Given the description of an element on the screen output the (x, y) to click on. 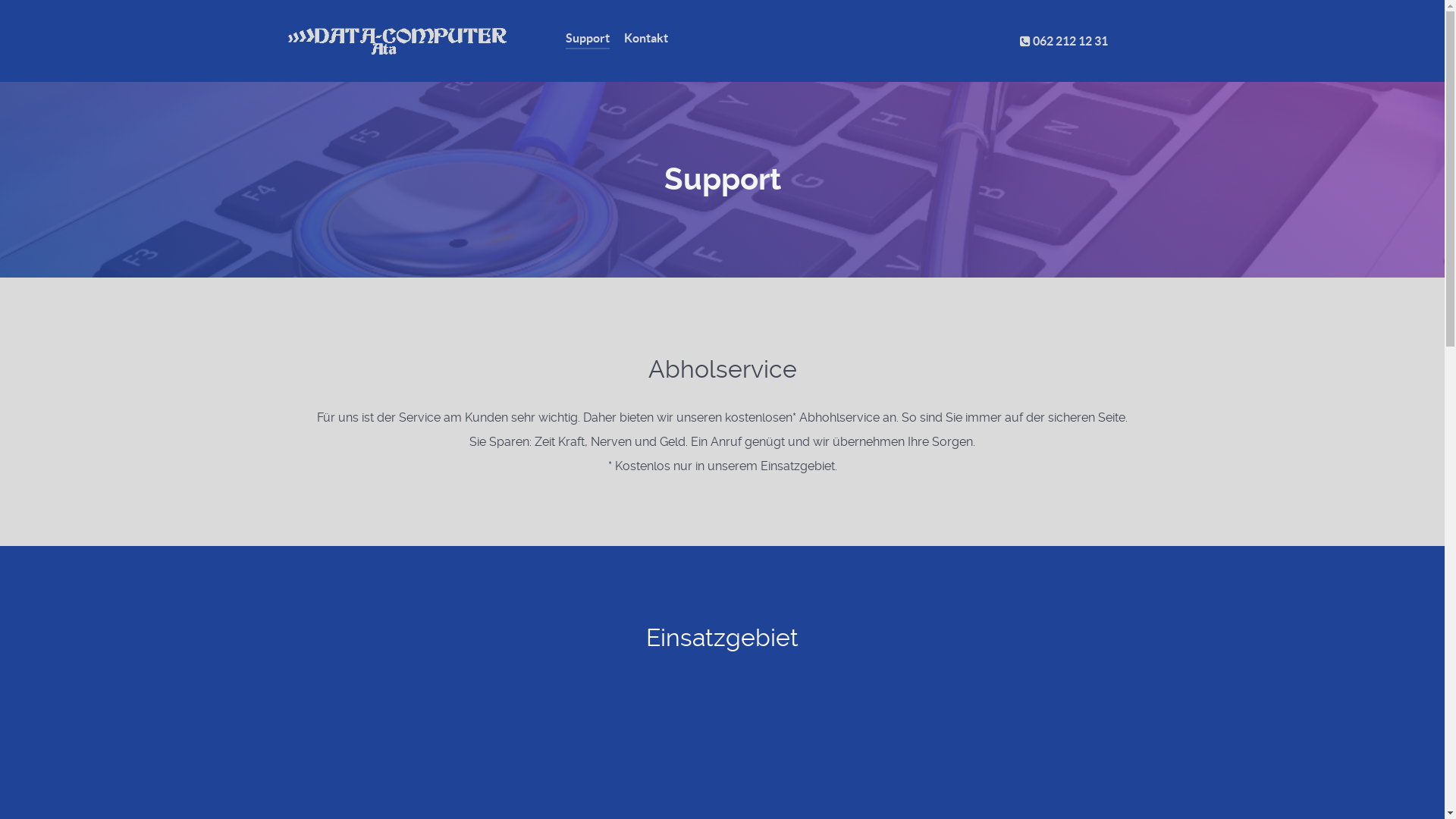
062 212 12 31 Element type: text (1063, 40)
Support Element type: text (587, 39)
Kontakt Element type: text (645, 39)
